Given the description of an element on the screen output the (x, y) to click on. 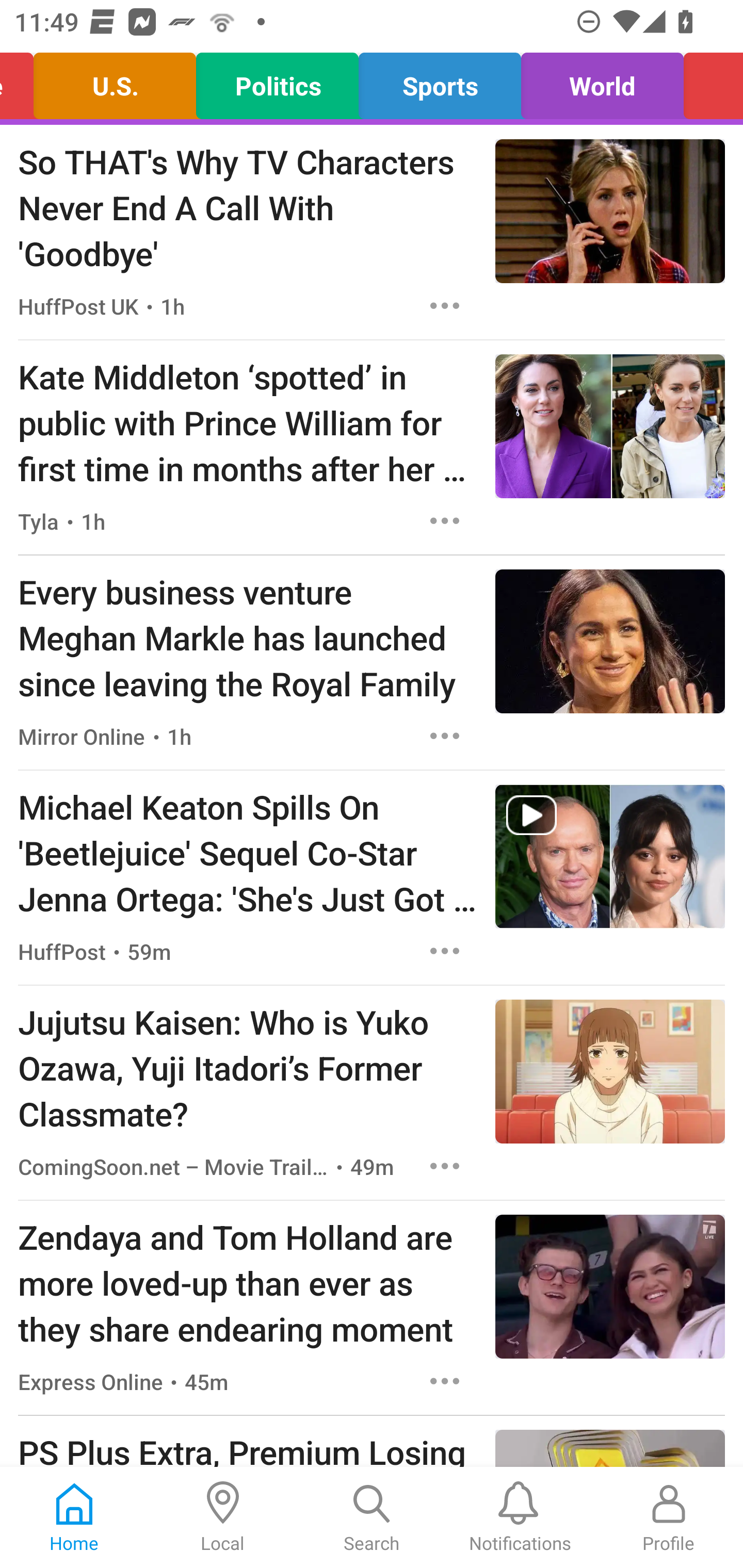
U.S. (114, 81)
Politics (277, 81)
Sports (439, 81)
World (602, 81)
Options (444, 305)
Options (444, 520)
Options (444, 736)
Options (444, 950)
Options (444, 1166)
Options (444, 1381)
Local (222, 1517)
Search (371, 1517)
Notifications (519, 1517)
Profile (668, 1517)
